Given the description of an element on the screen output the (x, y) to click on. 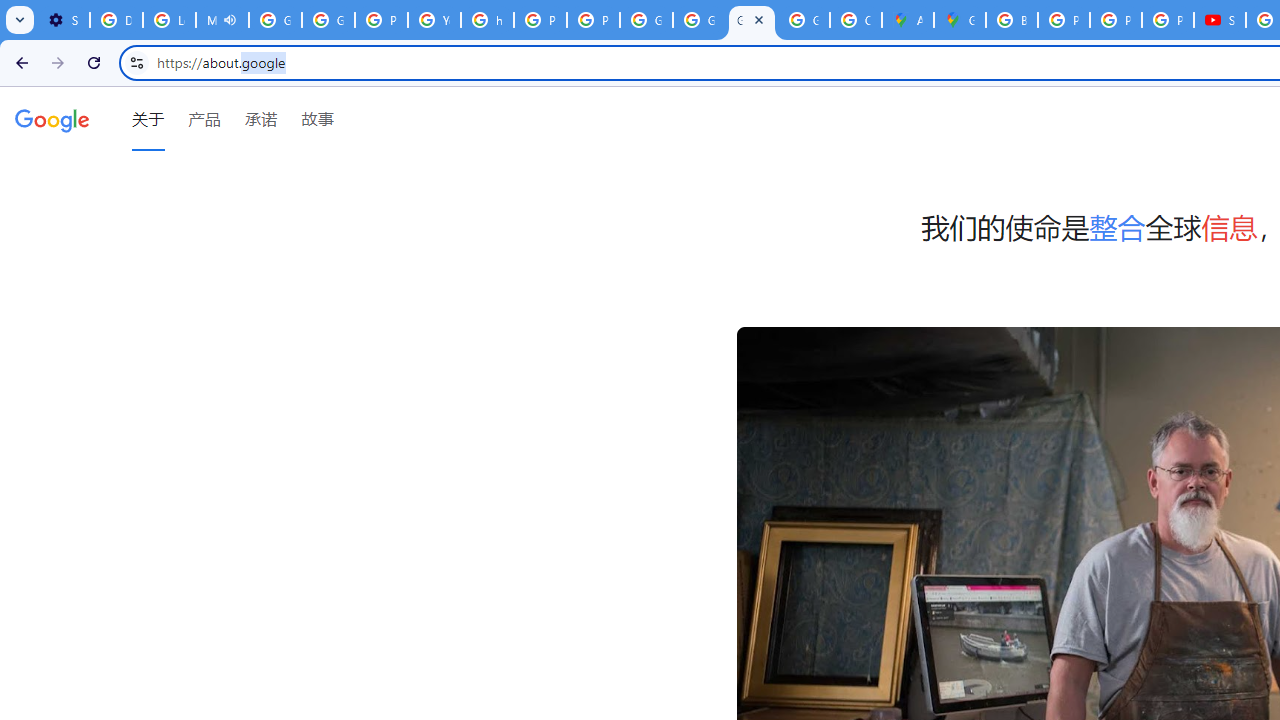
Privacy Help Center - Policies Help (381, 20)
Create your Google Account (855, 20)
https://scholar.google.com/ (487, 20)
YouTube (434, 20)
Privacy Help Center - Policies Help (540, 20)
Privacy Help Center - Policies Help (1064, 20)
Subscriptions - YouTube (1219, 20)
Settings - Customize profile (63, 20)
